Given the description of an element on the screen output the (x, y) to click on. 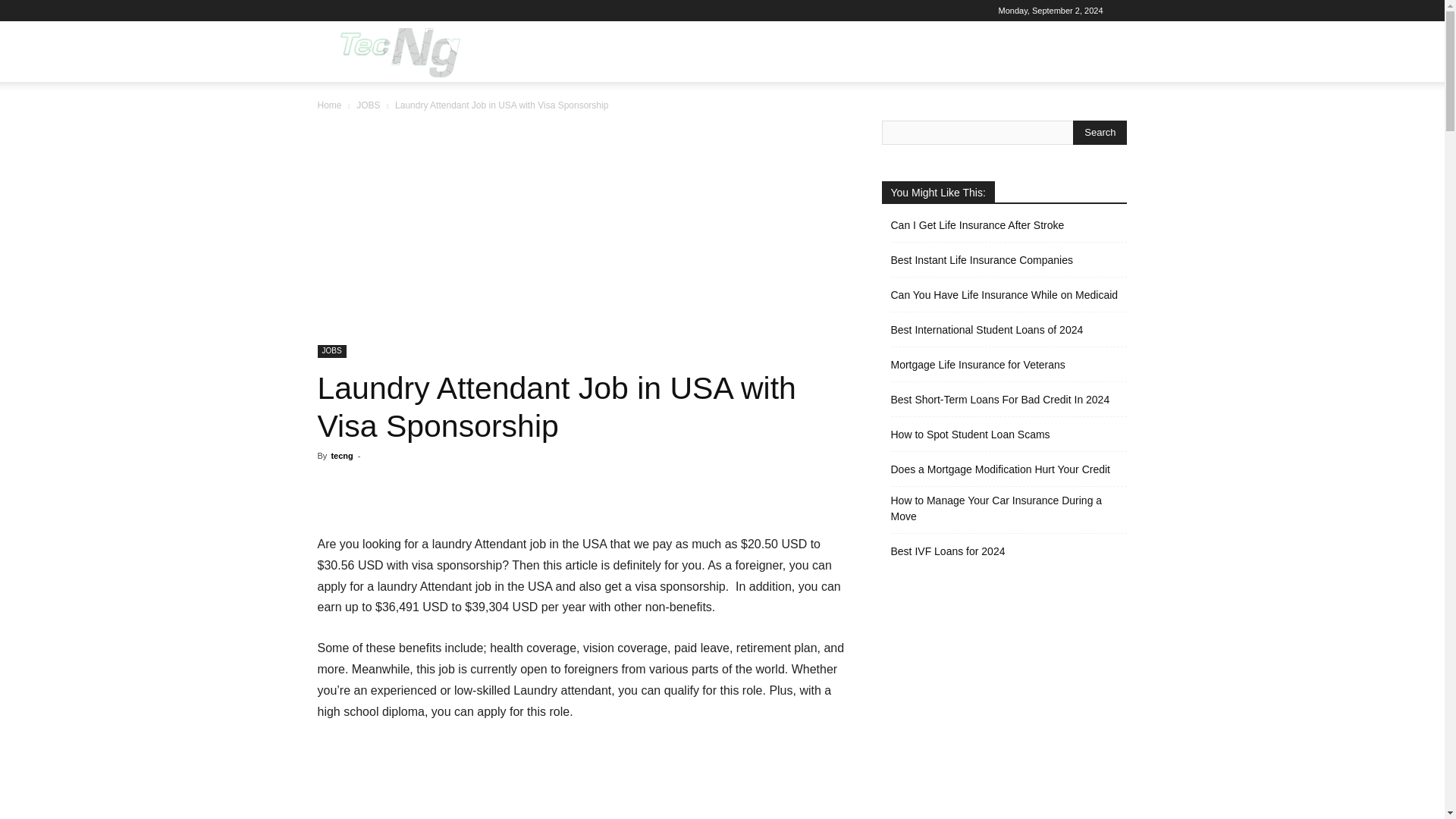
REVIEWS (809, 51)
View all posts in JOBS (368, 104)
INSURANCE (887, 51)
JOBS (331, 350)
Advertisement (580, 780)
JOBS (368, 104)
tecng (341, 455)
Search (1099, 132)
Advertisement (580, 232)
SCHOLARSHIP (978, 51)
